Given the description of an element on the screen output the (x, y) to click on. 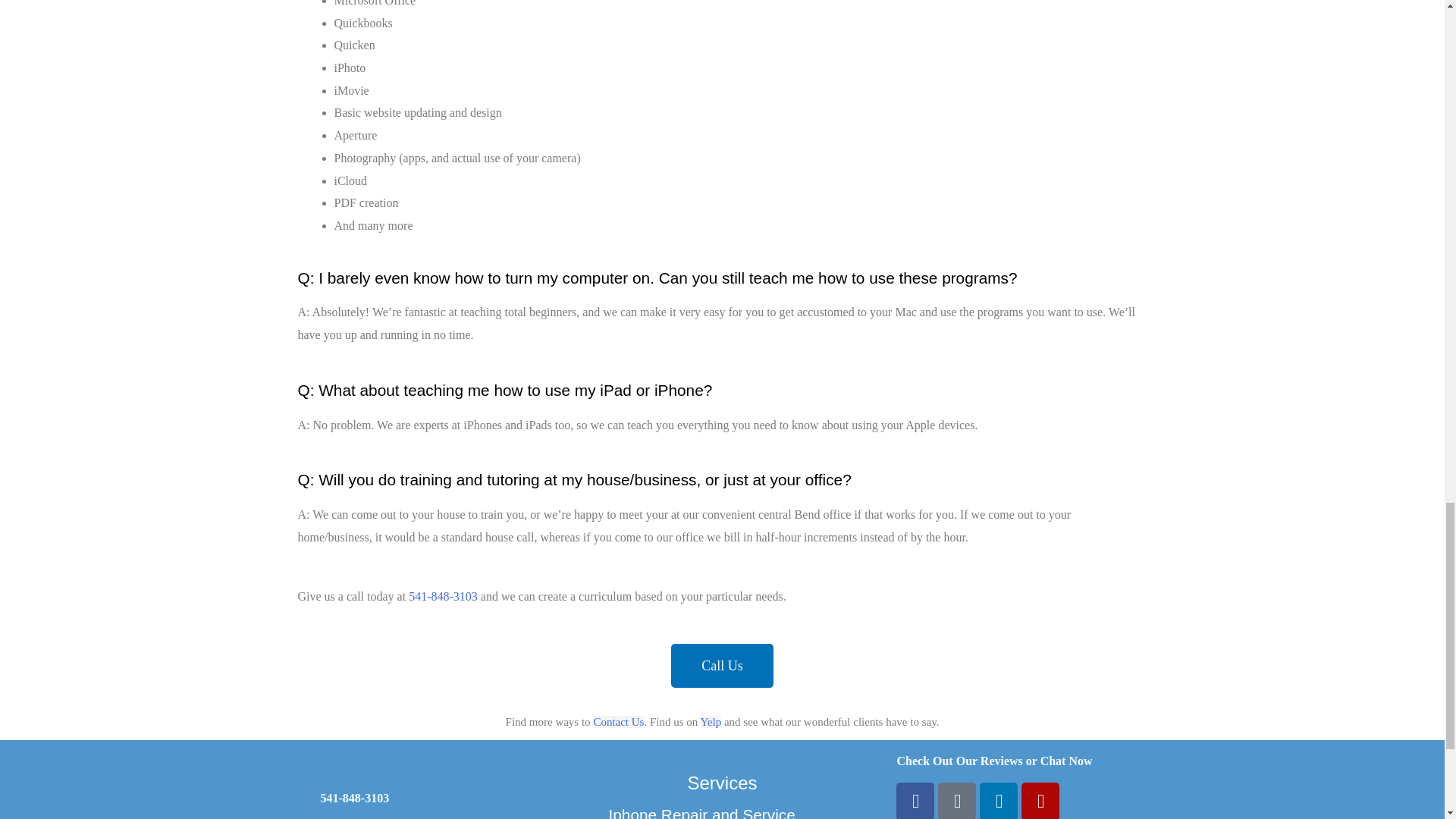
Google (956, 800)
Yelp (711, 721)
Yelp (1040, 800)
Linkedin (998, 800)
Iphone Repair and Service (701, 812)
541-848-3103 (354, 797)
541-848-3103 (443, 595)
Call Us (722, 665)
Facebook (915, 800)
Contact Us (617, 721)
